Given the description of an element on the screen output the (x, y) to click on. 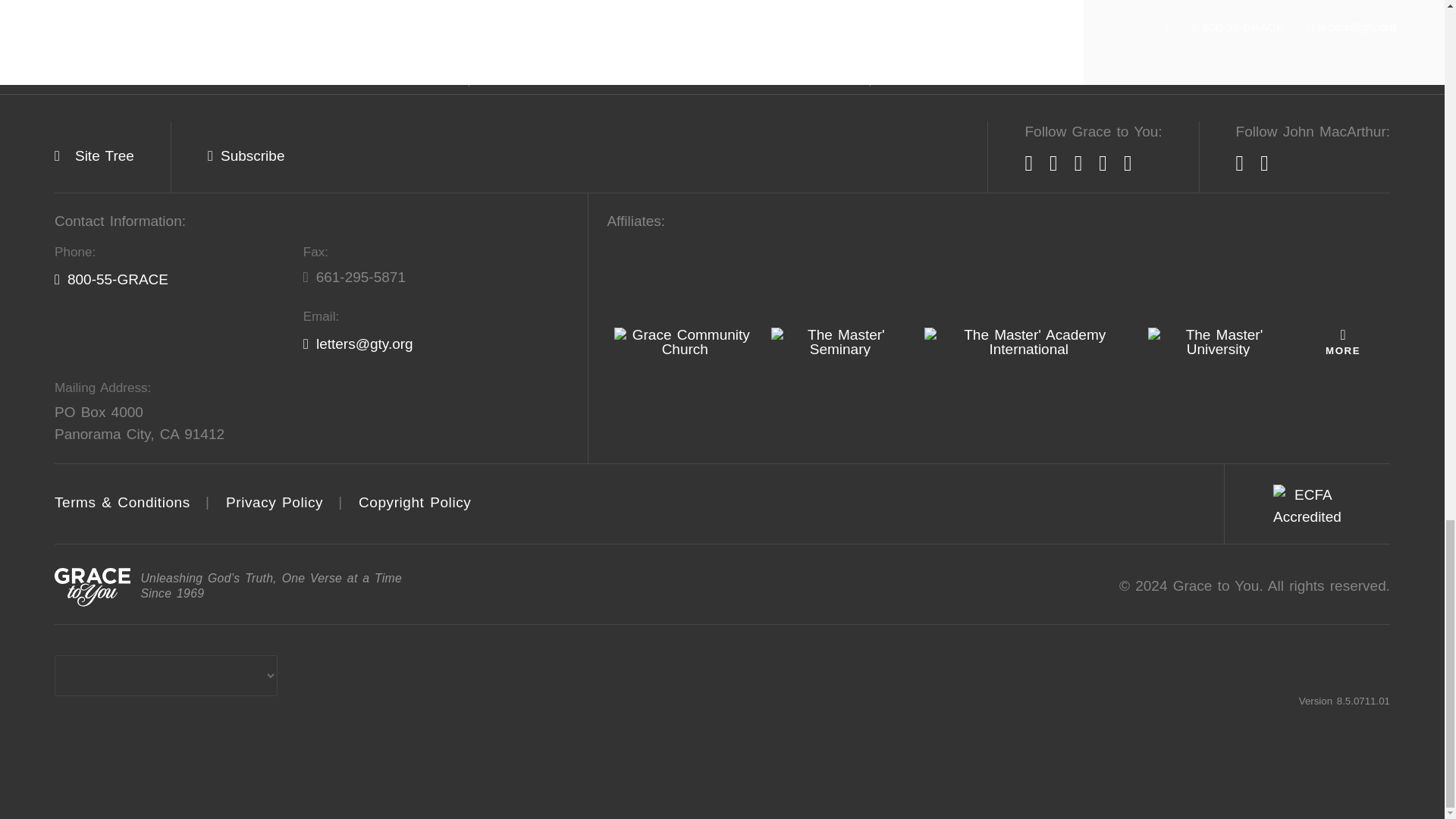
The Master' Academy International (1028, 341)
Grace-to-You (93, 587)
Grace Community Church (684, 341)
The Master' University (1218, 341)
More Affiliates (1341, 341)
The Master' Seminary (839, 341)
